Given the description of an element on the screen output the (x, y) to click on. 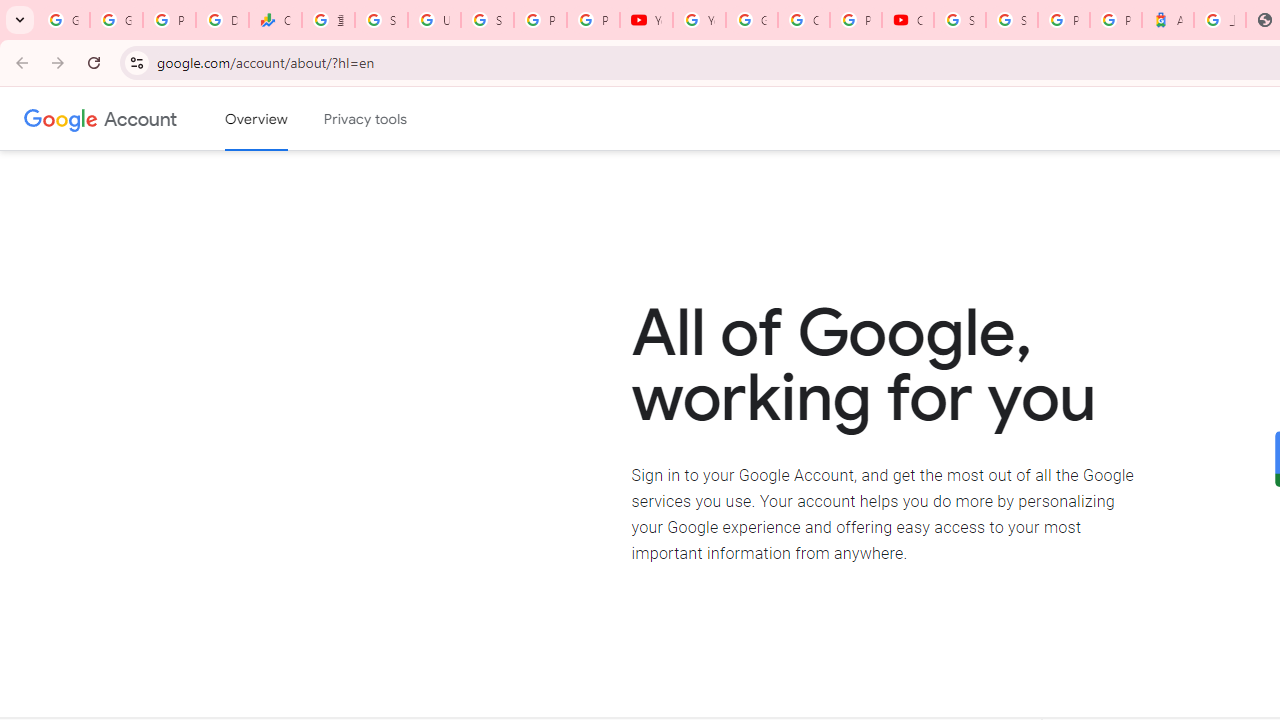
Content Creator Programs & Opportunities - YouTube Creators (907, 20)
Privacy Checkup (593, 20)
Skip to Content (285, 115)
YouTube (699, 20)
